Given the description of an element on the screen output the (x, y) to click on. 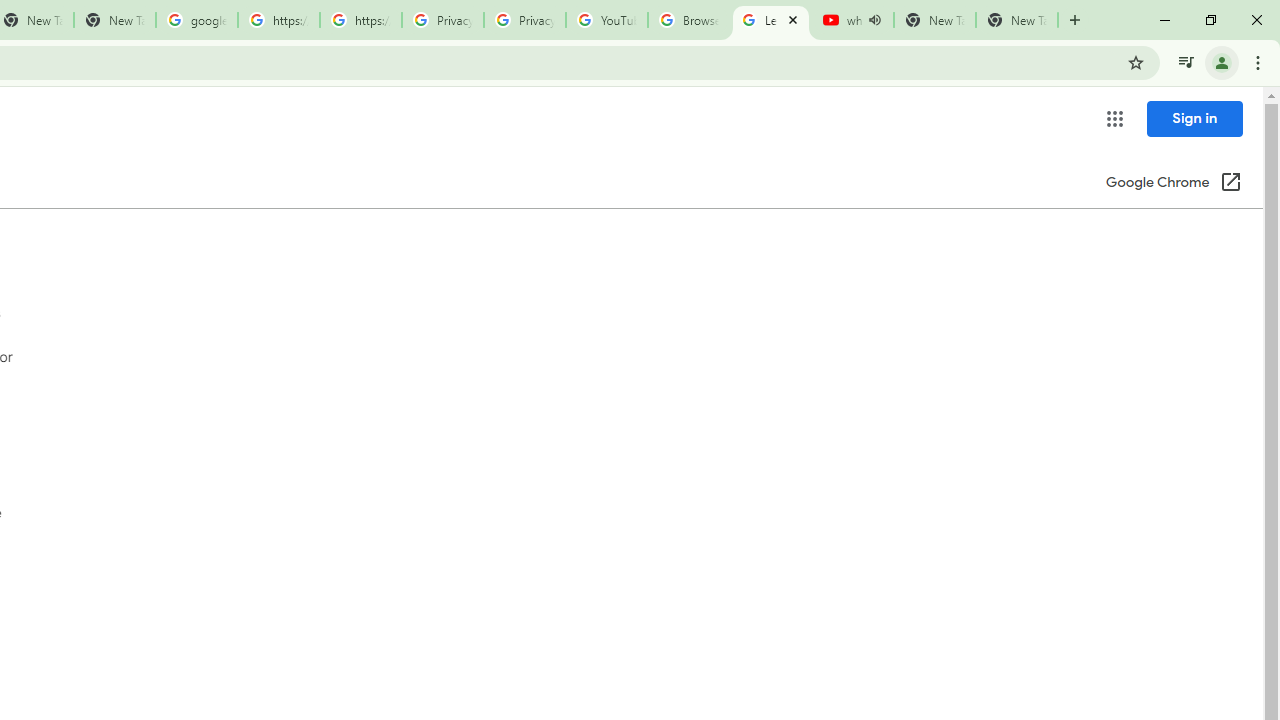
YouTube (606, 20)
Browse Chrome as a guest - Computer - Google Chrome Help (688, 20)
Mute tab (874, 20)
Google Chrome (Open in a new window) (1173, 183)
New Tab (1016, 20)
https://scholar.google.com/ (278, 20)
https://scholar.google.com/ (360, 20)
